Given the description of an element on the screen output the (x, y) to click on. 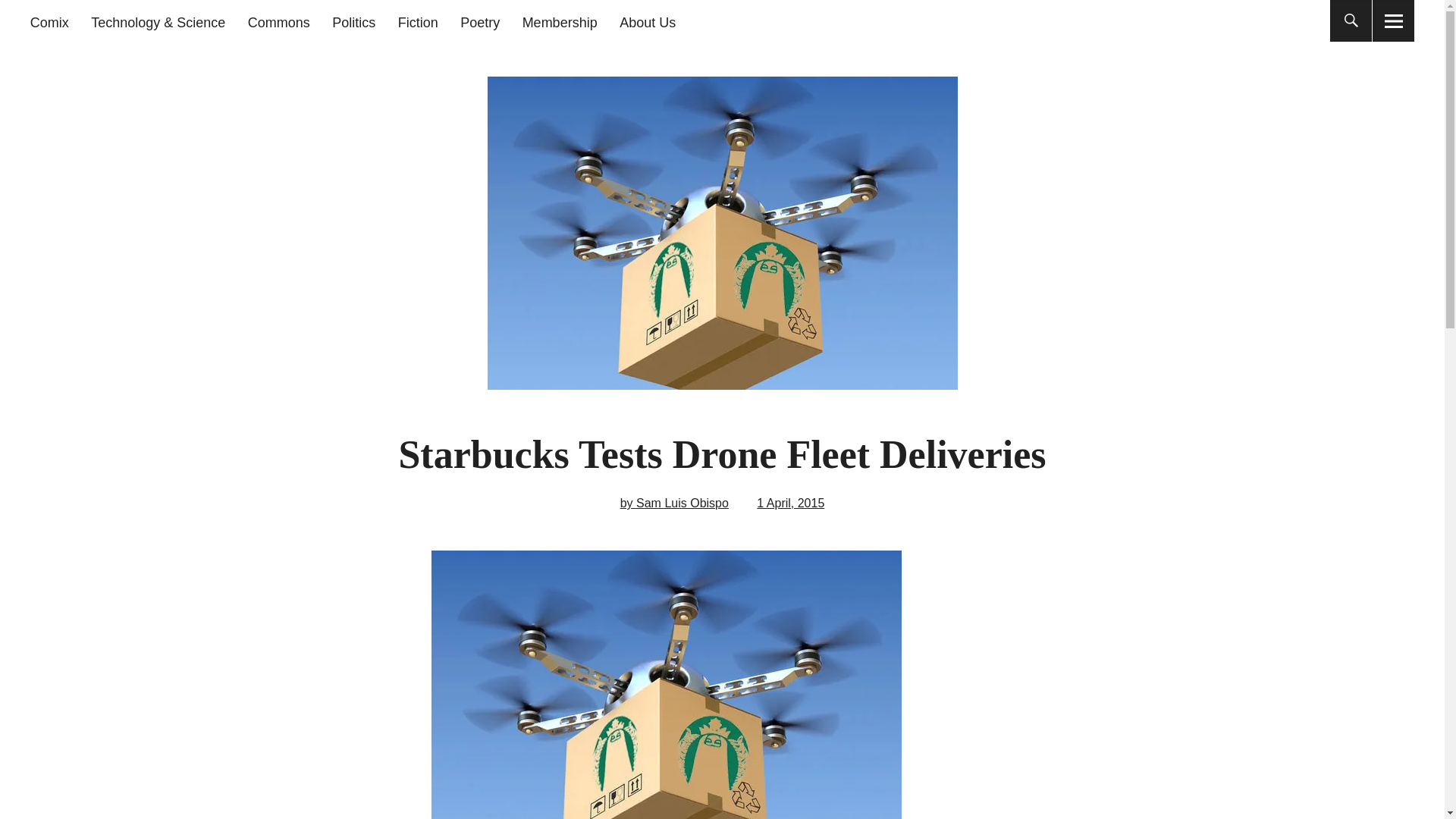
Poetry (479, 22)
Politics (353, 22)
Commons (278, 22)
1 April, 2015 (790, 502)
Comix (49, 22)
About Us (647, 22)
Search (692, 19)
The Seattle Star (230, 112)
Fiction (417, 22)
by Sam Luis Obispo (674, 502)
Membership (559, 22)
